Given the description of an element on the screen output the (x, y) to click on. 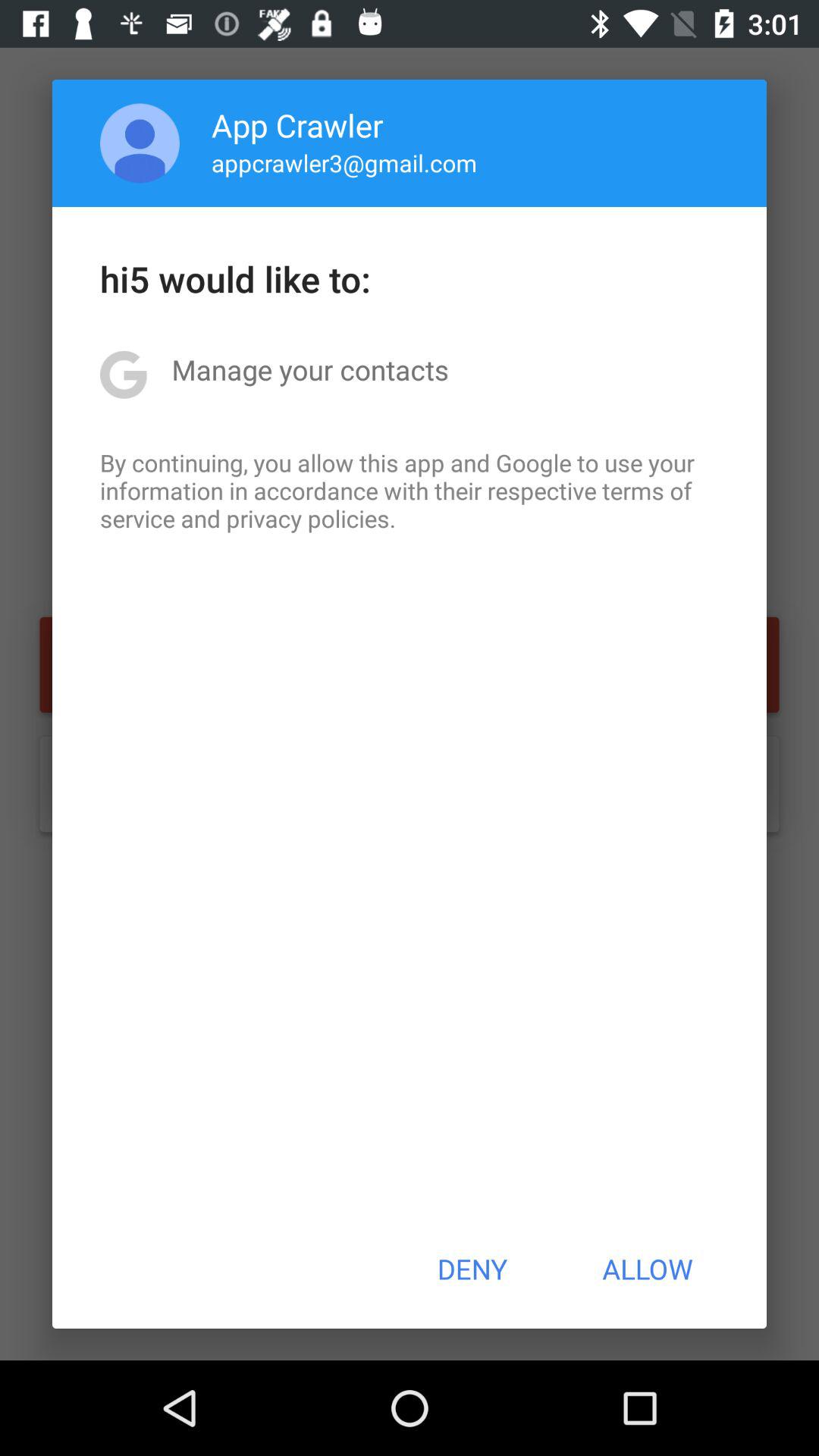
turn on the icon below by continuing you item (471, 1268)
